Given the description of an element on the screen output the (x, y) to click on. 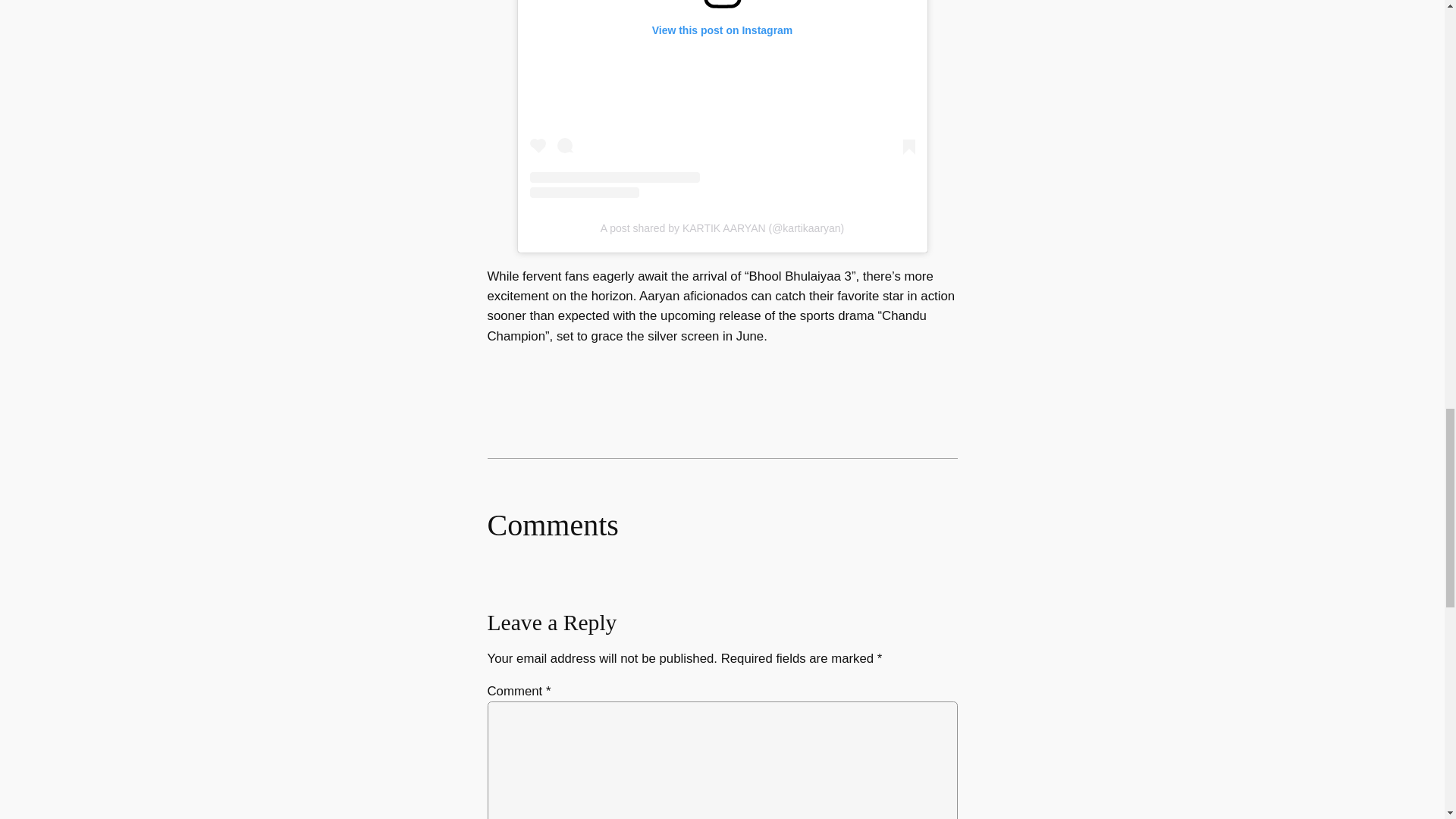
View this post on Instagram (721, 99)
